Given the description of an element on the screen output the (x, y) to click on. 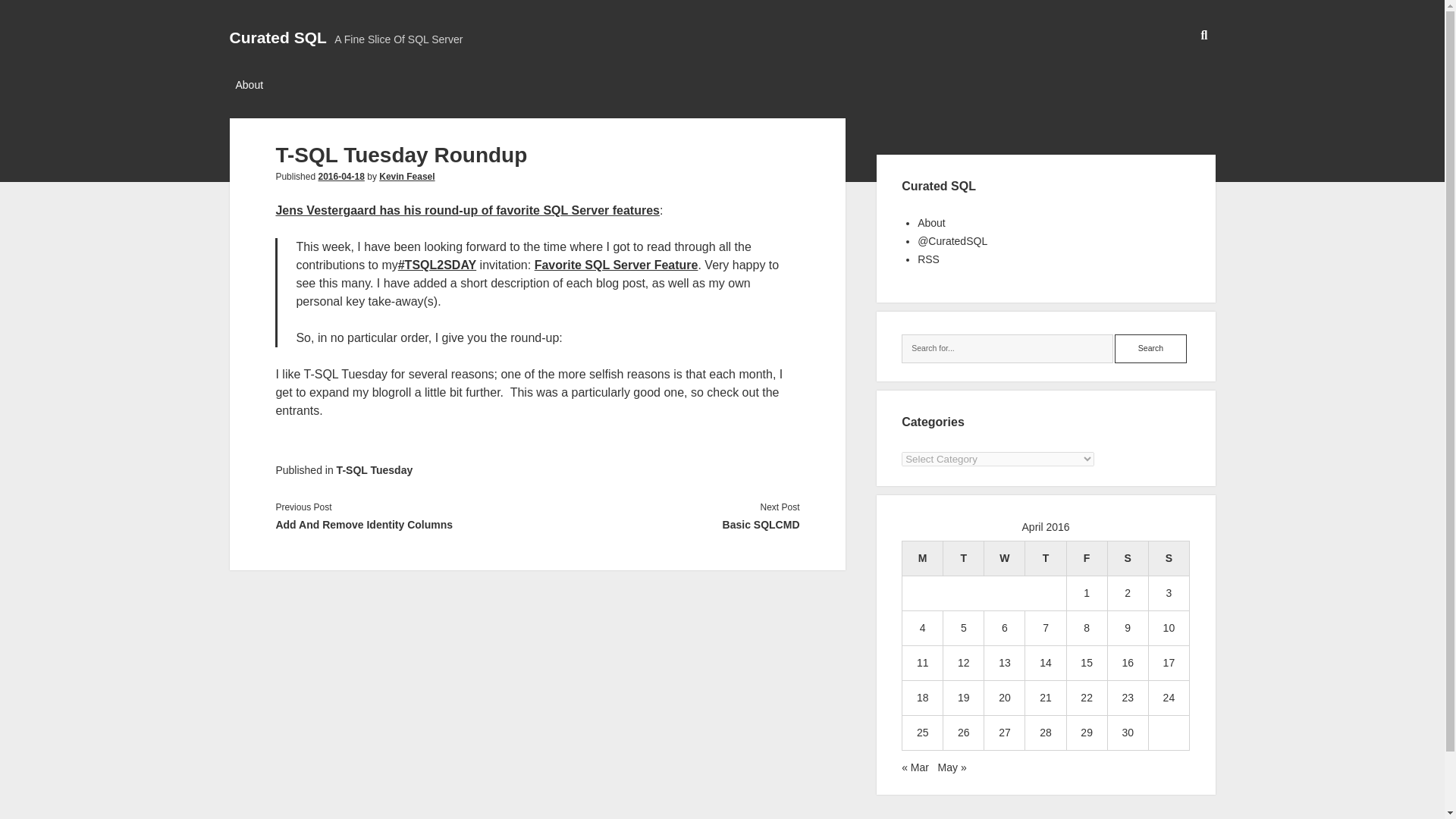
Add And Remove Identity Columns (406, 524)
20 (1004, 697)
26 (963, 732)
Search (1150, 348)
2016-04-18 (340, 176)
About (930, 223)
Thursday (1045, 557)
29 (1086, 732)
Basic SQLCMD (668, 524)
Search (1150, 348)
